Given the description of an element on the screen output the (x, y) to click on. 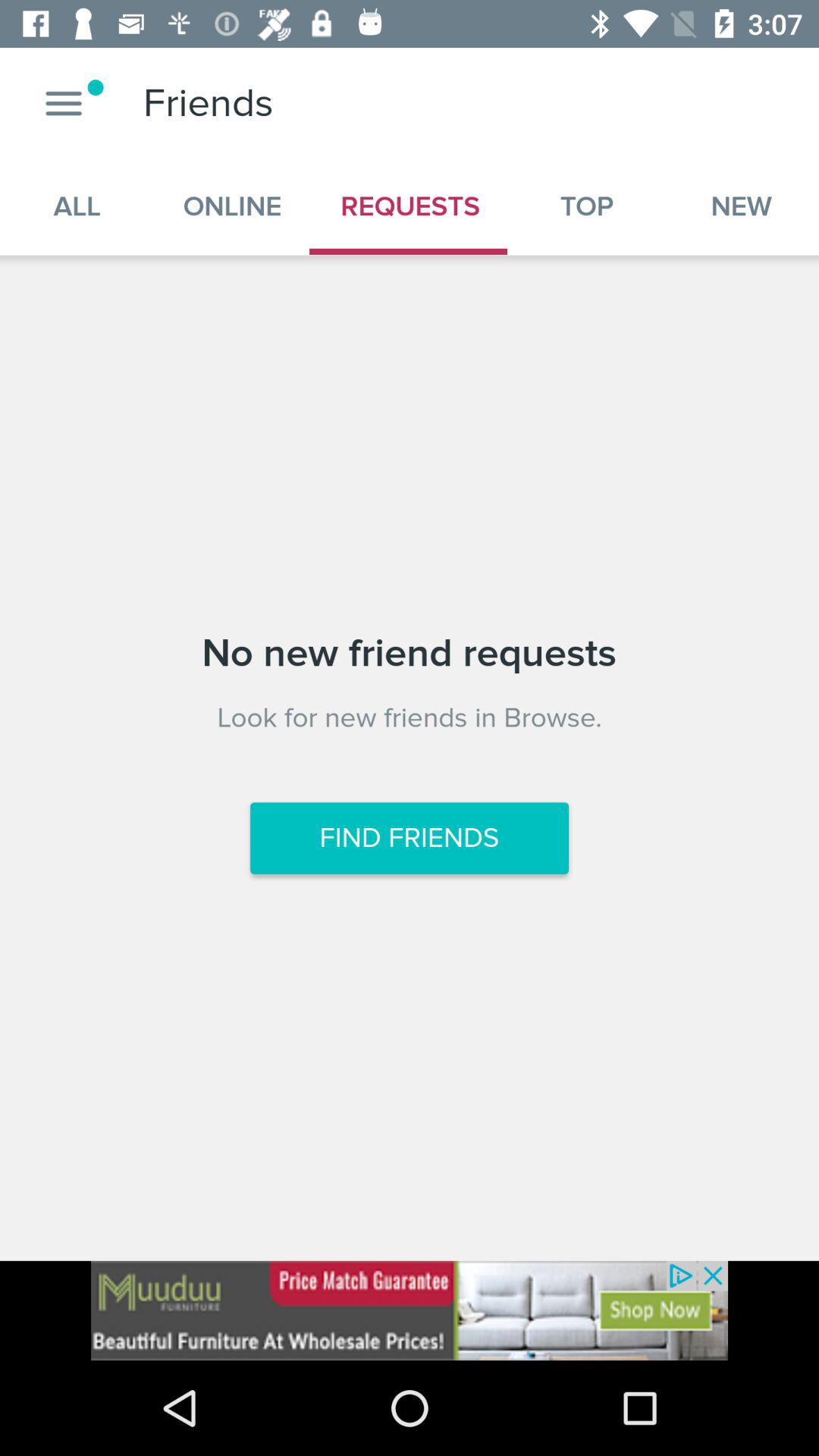
see more options (63, 103)
